Given the description of an element on the screen output the (x, y) to click on. 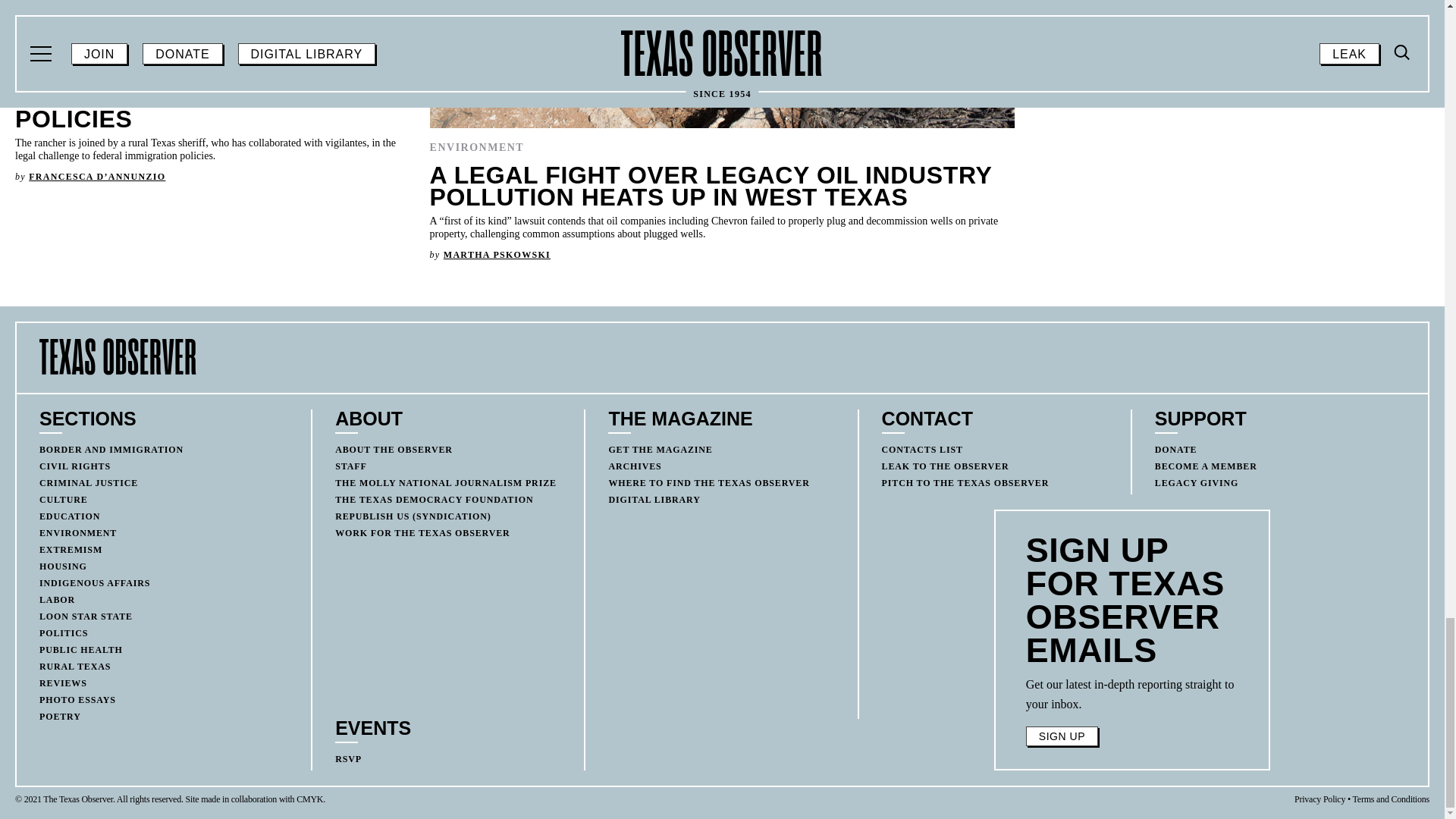
Post by Darcie Little Badger (1119, 97)
Post by Martha Pskowski (497, 254)
Page 6 (1132, 694)
